Given the description of an element on the screen output the (x, y) to click on. 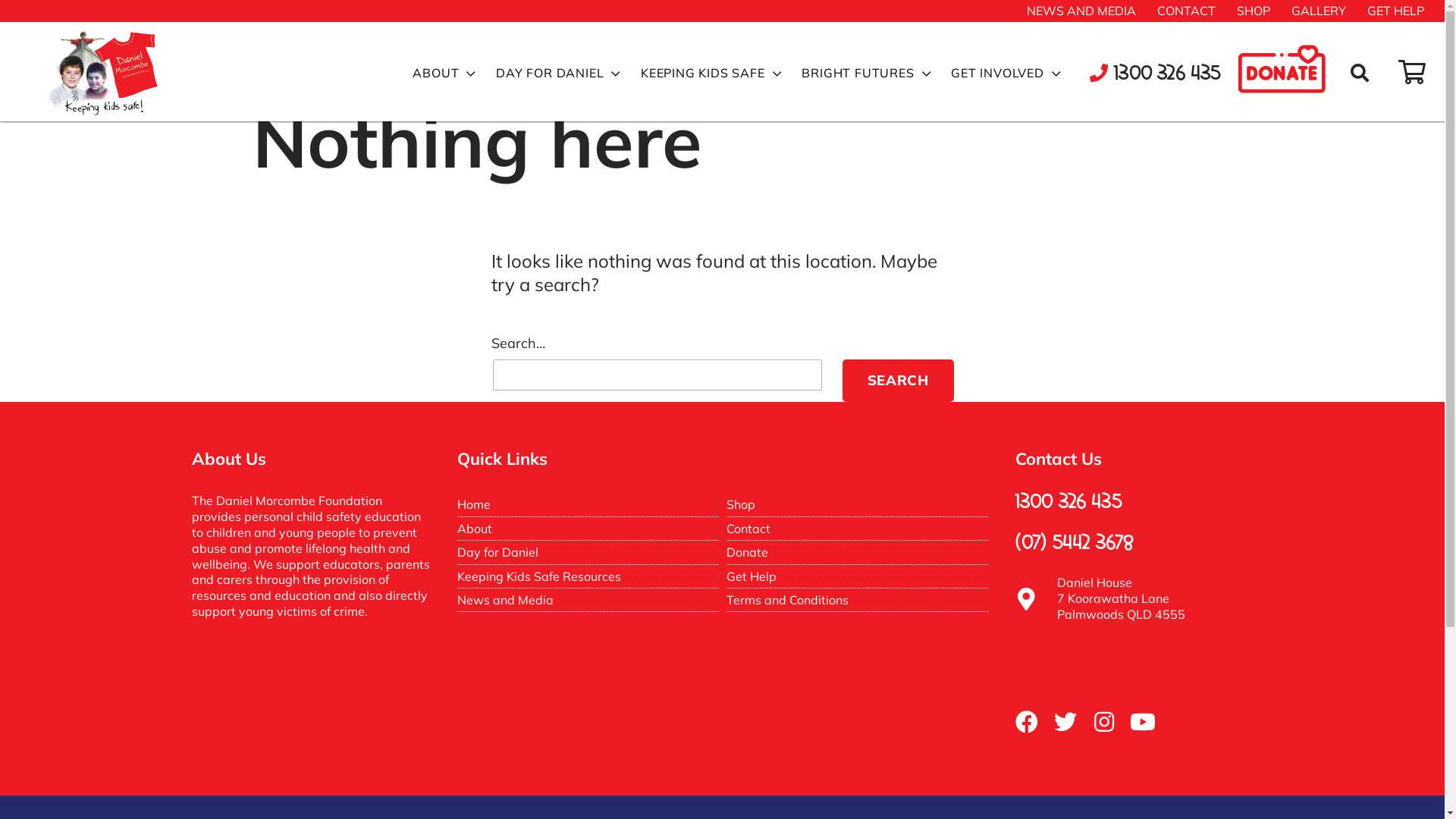
(07) 5442 3678 Element type: text (1073, 542)
KEEPING KIDS SAFE Element type: text (710, 74)
DAY FOR DANIEL Element type: text (558, 74)
ABOUT Element type: text (444, 74)
NEWS AND MEDIA Element type: text (1080, 10)
Day for Daniel Element type: text (496, 551)
View your shopping cart Element type: hover (1411, 72)
GET INVOLVED Element type: text (1005, 74)
Site Search Element type: hover (1362, 74)
Contact Element type: text (748, 528)
Search Element type: text (897, 380)
Donate Now Element type: hover (1289, 74)
1300 326 435 Element type: text (1067, 501)
SHOP Element type: text (1253, 10)
Get Help Element type: text (751, 575)
BRIGHT FUTURES Element type: text (866, 74)
GALLERY Element type: text (1318, 10)
GET HELP Element type: text (1395, 10)
Home Element type: text (472, 503)
The Daniel Morcombe Foundation Element type: text (61, 125)
About Element type: text (473, 528)
News and Media Element type: text (504, 599)
Shop Element type: text (740, 503)
Terms and Conditions Element type: text (787, 599)
Keeping Kids Safe Resources Element type: text (538, 575)
CONTACT Element type: text (1186, 10)
Donate Element type: text (747, 551)
1300 326 435 Element type: text (1154, 74)
